Given the description of an element on the screen output the (x, y) to click on. 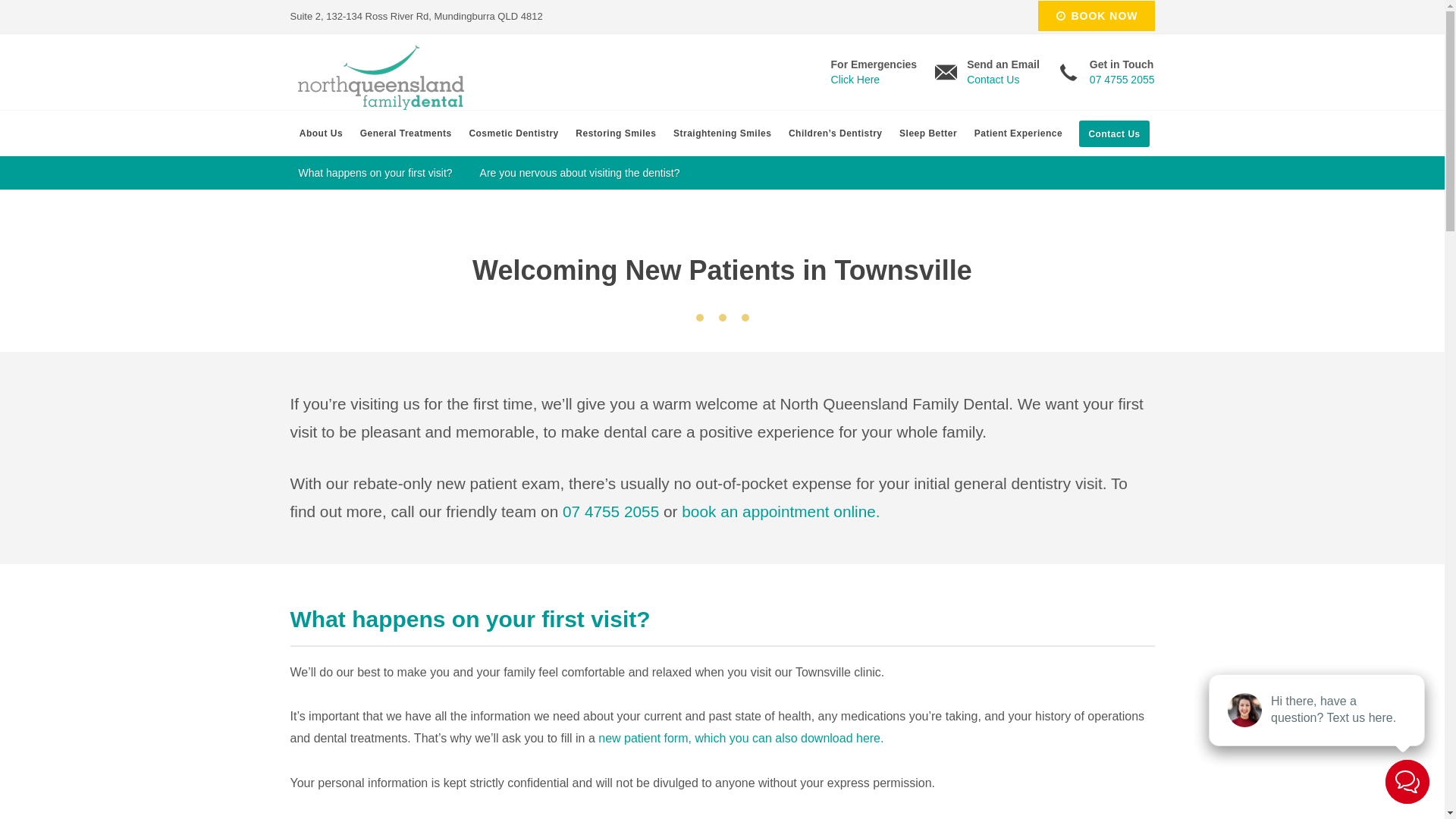
Sleep Better Element type: text (928, 133)
Are you nervous about visiting the dentist? Element type: text (579, 172)
Straightening Smiles Element type: text (722, 133)
Patient Experience Element type: text (1018, 133)
BOOK NOW Element type: text (1096, 15)
Contact Us Element type: text (1113, 133)
07 4755 2055 Element type: text (1121, 79)
What happens on your first visit? Element type: text (375, 172)
book an appointment online. Element type: text (780, 511)
Cosmetic Dentistry Element type: text (513, 133)
Click Here Element type: text (855, 79)
About Us Element type: text (320, 133)
General Treatments Element type: text (405, 133)
Contact Us Element type: text (992, 79)
new patient form, which you can also download here. Element type: text (740, 737)
Restoring Smiles Element type: text (615, 133)
07 4755 2055 Element type: text (610, 511)
